Given the description of an element on the screen output the (x, y) to click on. 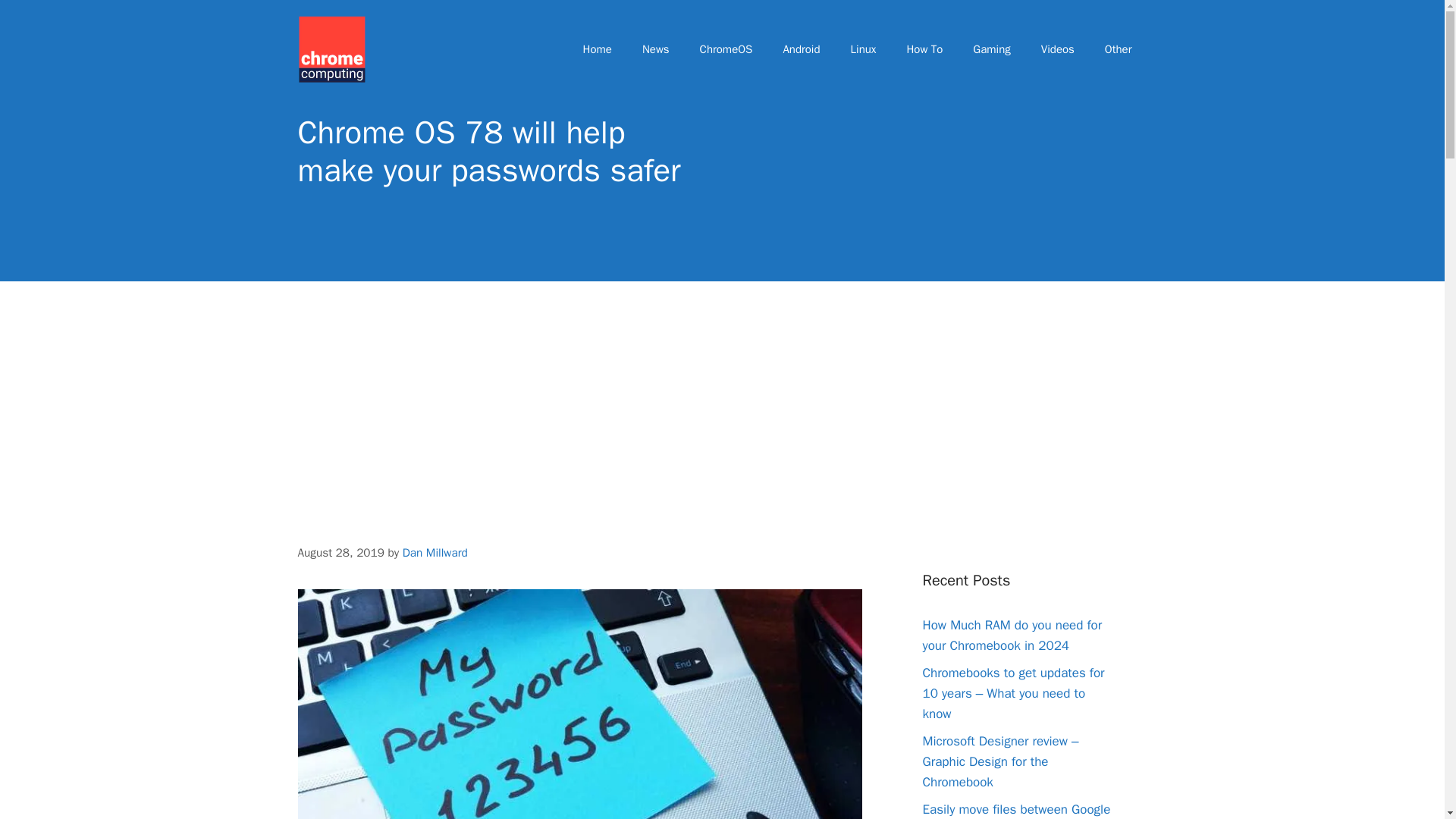
Home (597, 49)
News (655, 49)
Android (800, 49)
Linux (863, 49)
Videos (1057, 49)
View all posts by Dan Millward (435, 552)
How Much RAM do you need for your Chromebook in 2024 (1011, 635)
Other (1118, 49)
How To (924, 49)
ChromeOS (726, 49)
Dan Millward (435, 552)
Gaming (991, 49)
